Given the description of an element on the screen output the (x, y) to click on. 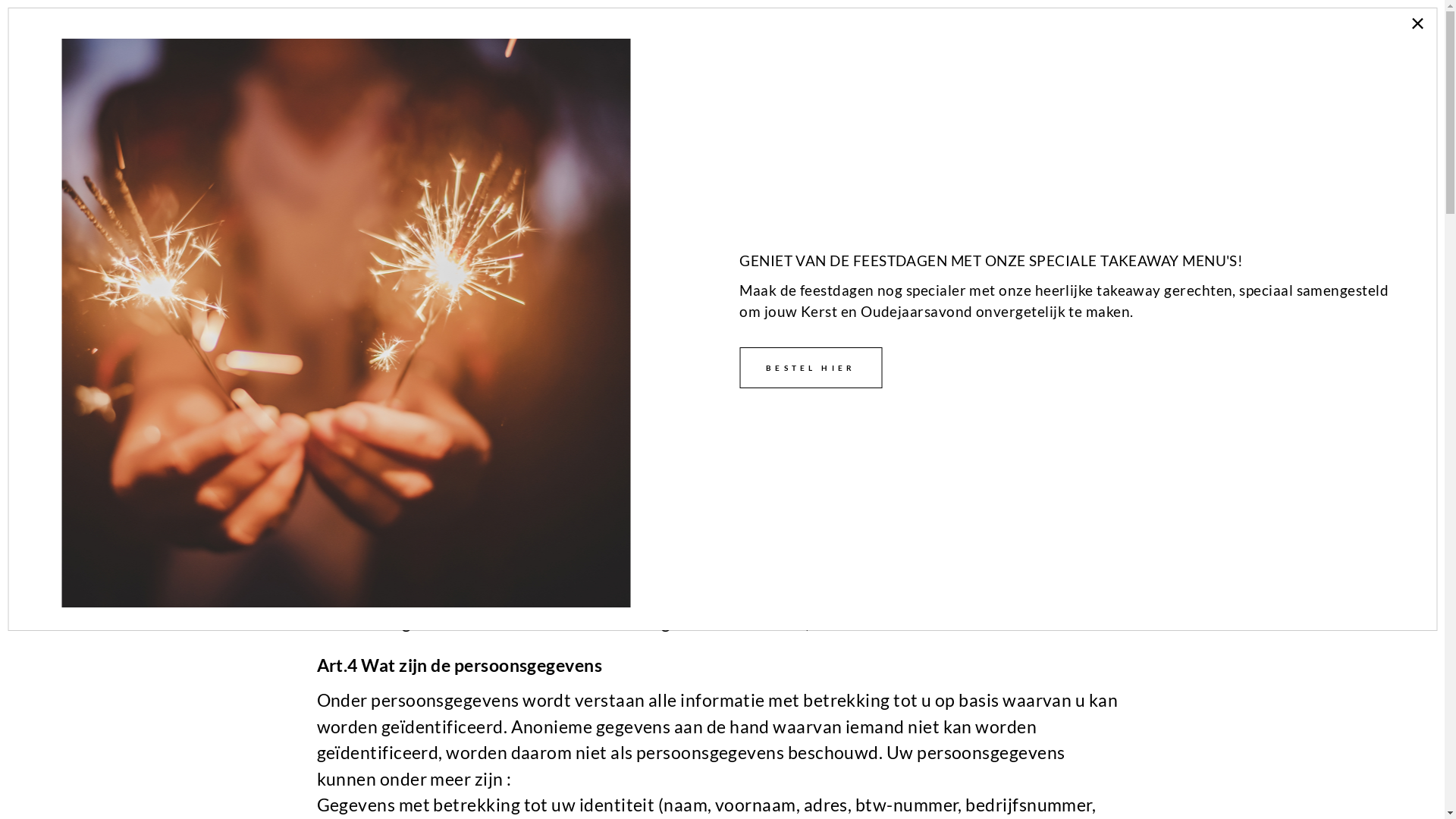
BESTEL HIER Element type: text (810, 367)
CADEAUBONNEN Element type: text (1356, 35)
WIJNKAART Element type: text (1013, 35)
CONTACT Element type: text (1230, 35)
KAART Element type: text (916, 35)
RESERVEER Element type: text (1126, 35)
HOME Element type: text (809, 35)
